Given the description of an element on the screen output the (x, y) to click on. 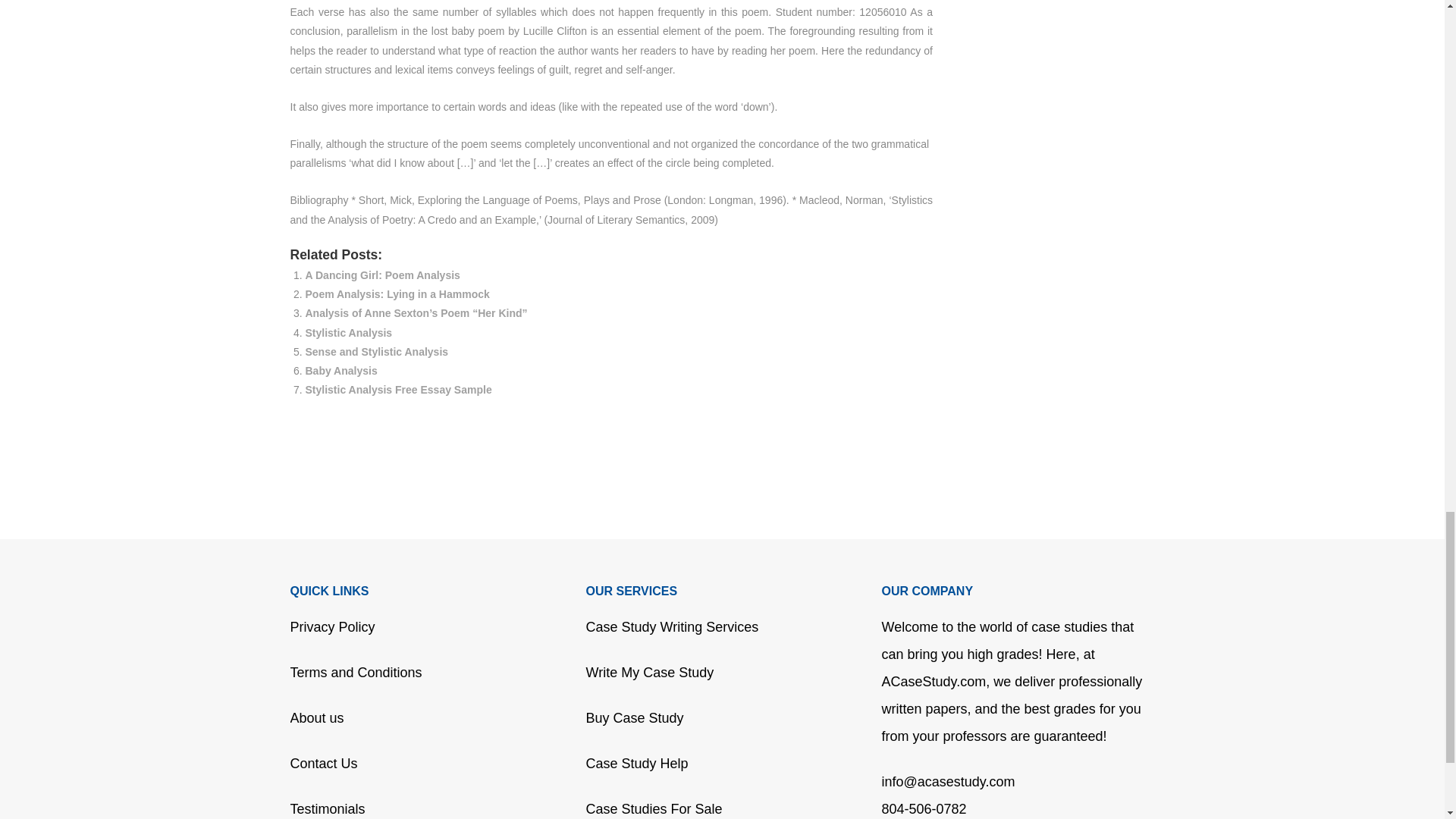
Stylistic Analysis Free Essay Sample (398, 389)
Poem Analysis: Lying in a Hammock (396, 294)
A Dancing Girl: Poem Analysis (382, 275)
Sense and Stylistic Analysis (376, 351)
Stylistic Analysis (347, 332)
Baby Analysis (340, 370)
